Given the description of an element on the screen output the (x, y) to click on. 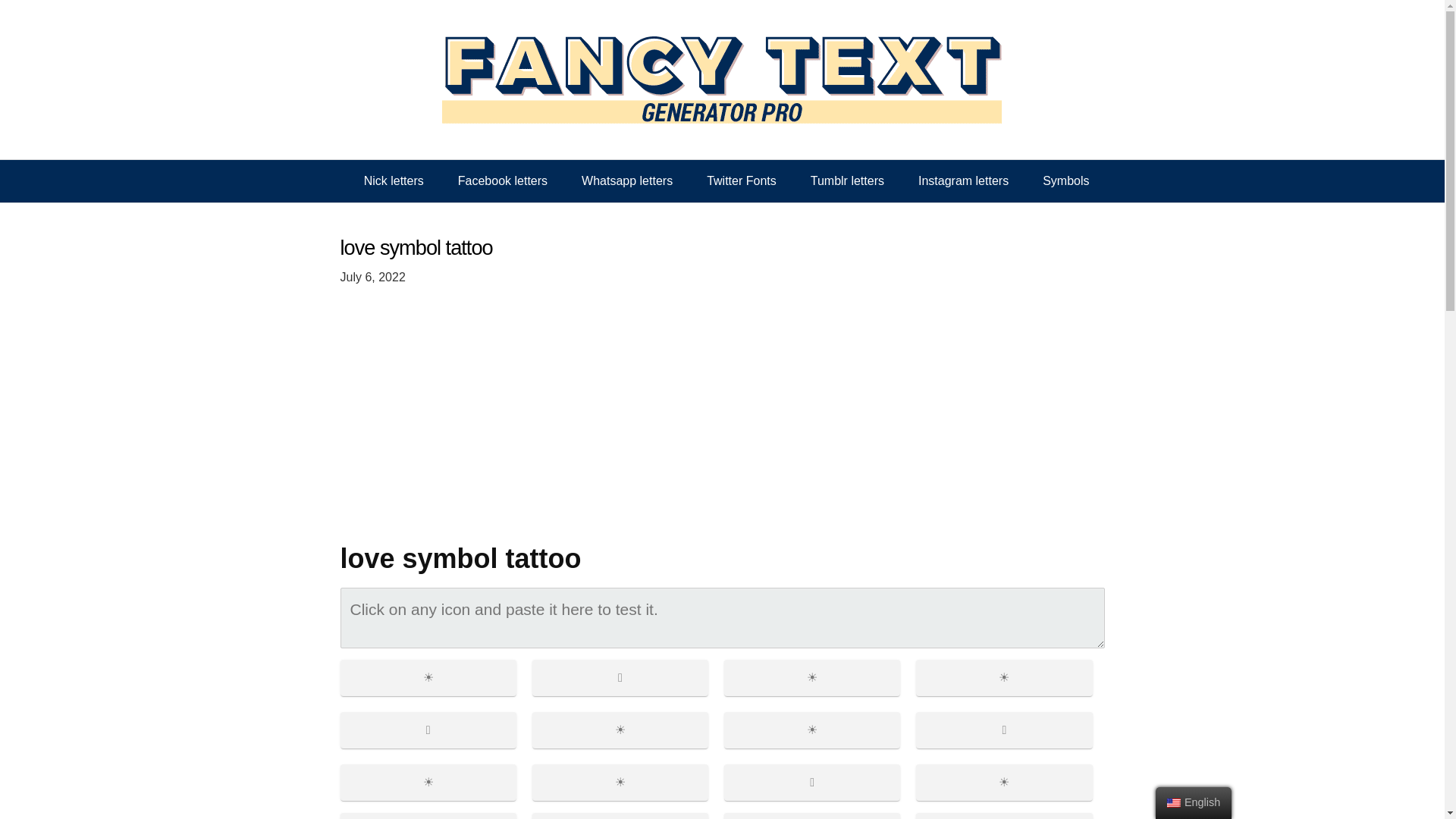
Facebook letters (502, 180)
Tumblr letters (846, 180)
Whatsapp letters (626, 180)
Instagram letters (962, 180)
Twitter Fonts (741, 180)
Nick letters (394, 180)
Symbols (1065, 180)
English (1173, 802)
